Given the description of an element on the screen output the (x, y) to click on. 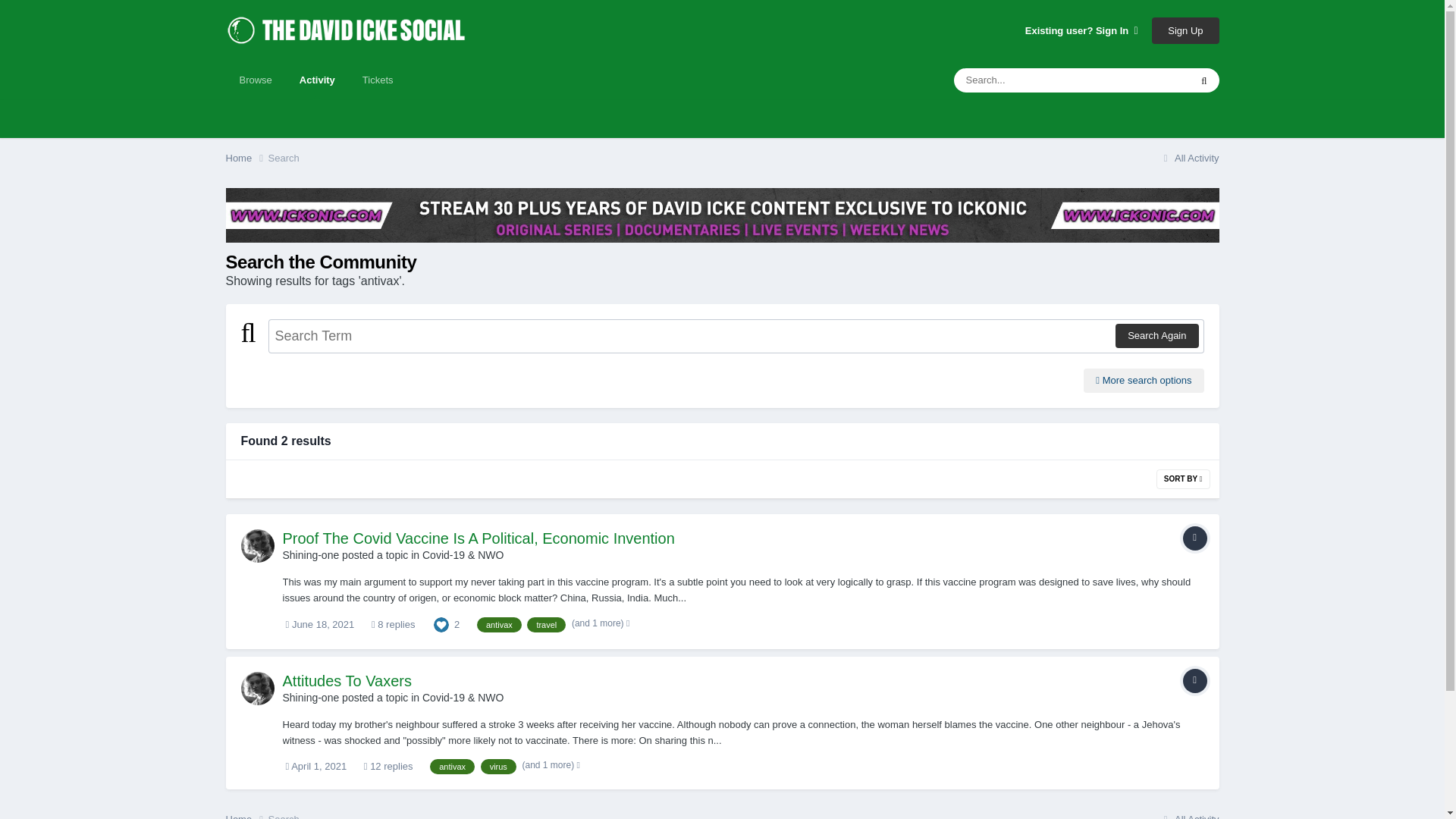
Search (283, 157)
Existing user? Sign In   (1081, 30)
More search options (1143, 380)
Activity (317, 79)
Tickets (378, 79)
Sign Up (1184, 29)
Topic (1194, 680)
Like (440, 624)
Browse (255, 79)
Find other content tagged with 'virus' (498, 766)
Find other content tagged with 'antivax' (499, 624)
Find other content tagged with 'antivax' (451, 766)
Search Again (1156, 335)
Home (246, 158)
Go to Shining-one's profile (258, 545)
